Given the description of an element on the screen output the (x, y) to click on. 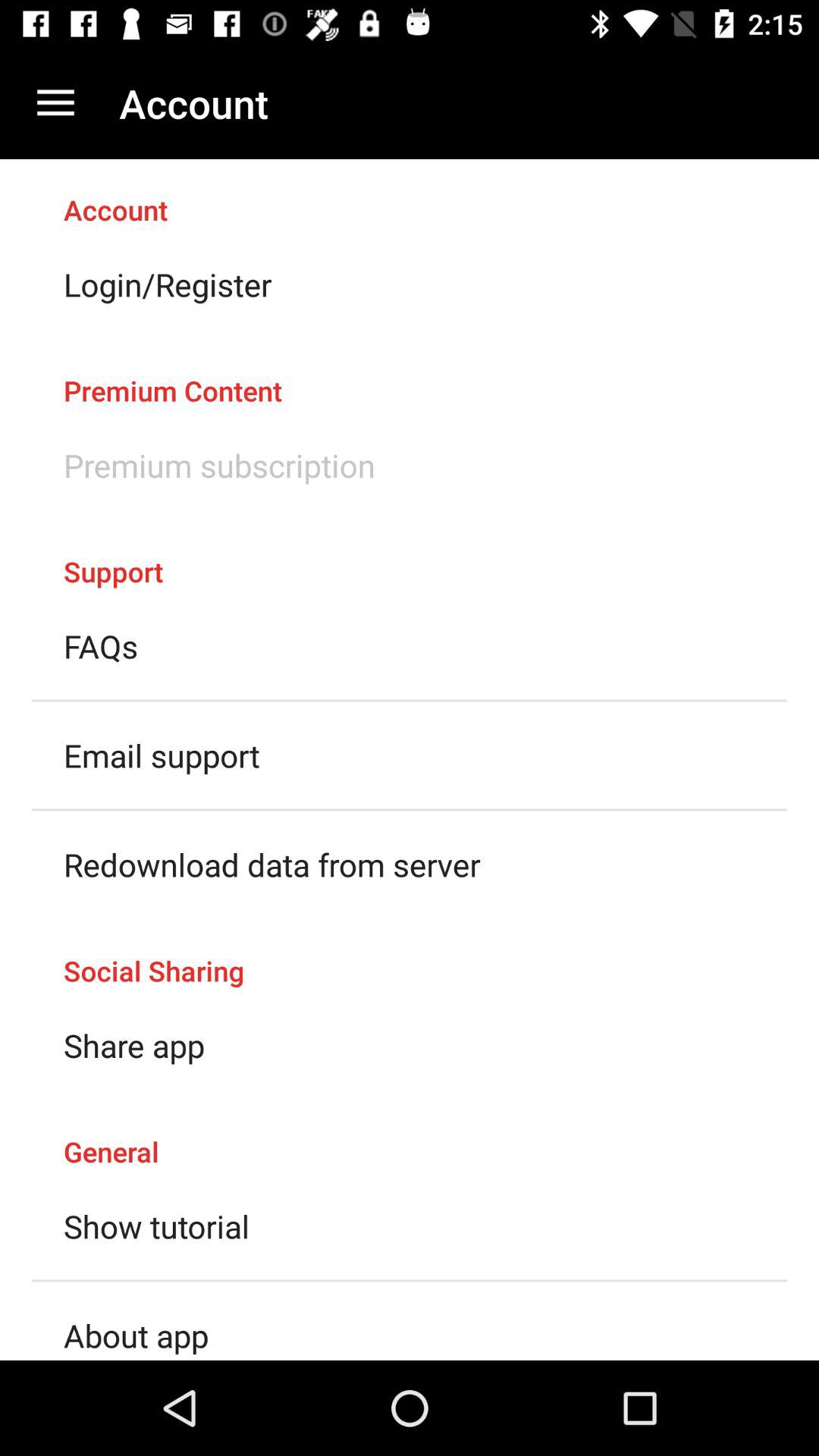
select faqs item (100, 645)
